Given the description of an element on the screen output the (x, y) to click on. 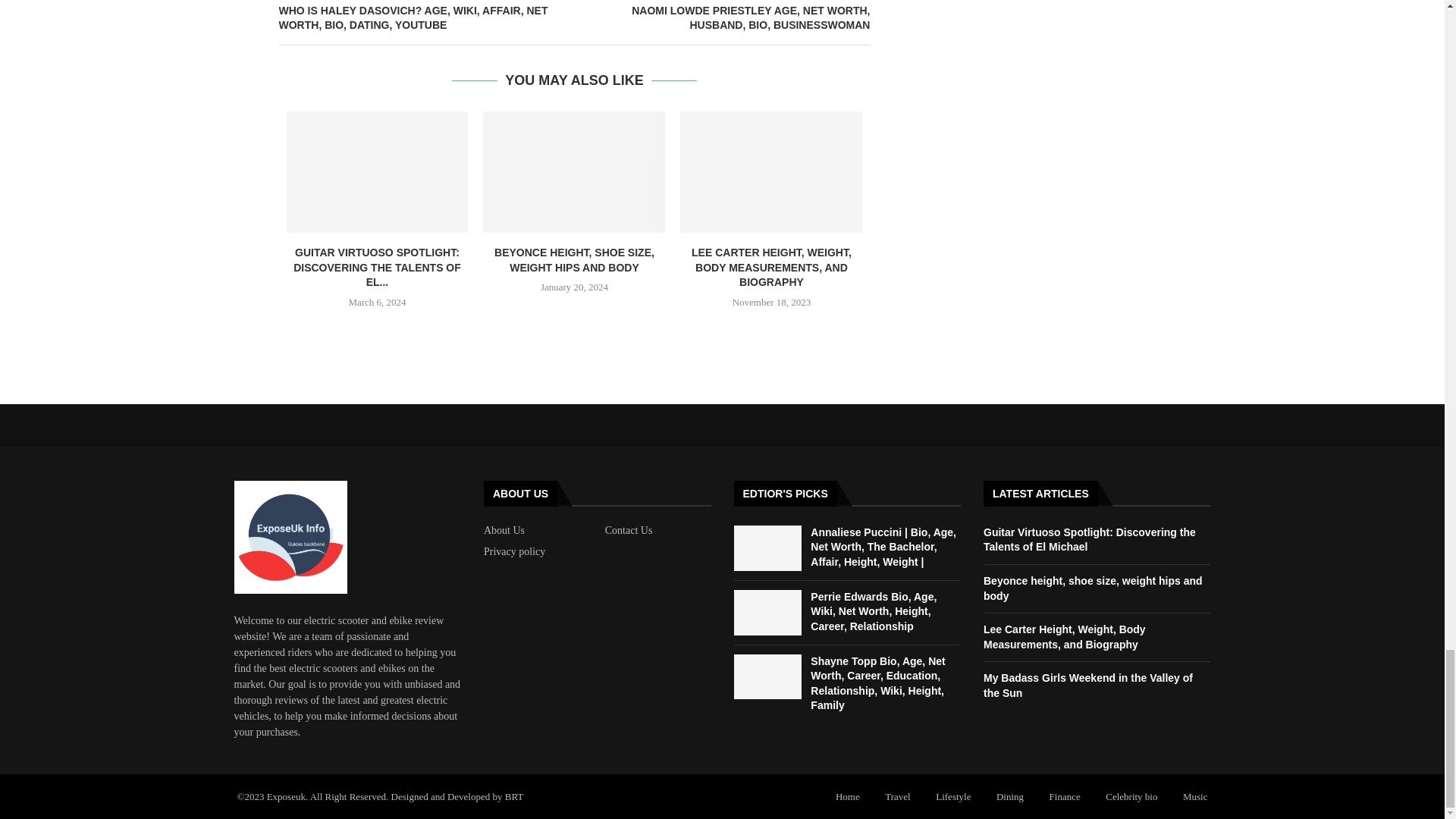
Lee Carter Height, Weight, Body Measurements, and Biography (770, 171)
Beyonce height, shoe size, weight hips and body (574, 171)
